Given the description of an element on the screen output the (x, y) to click on. 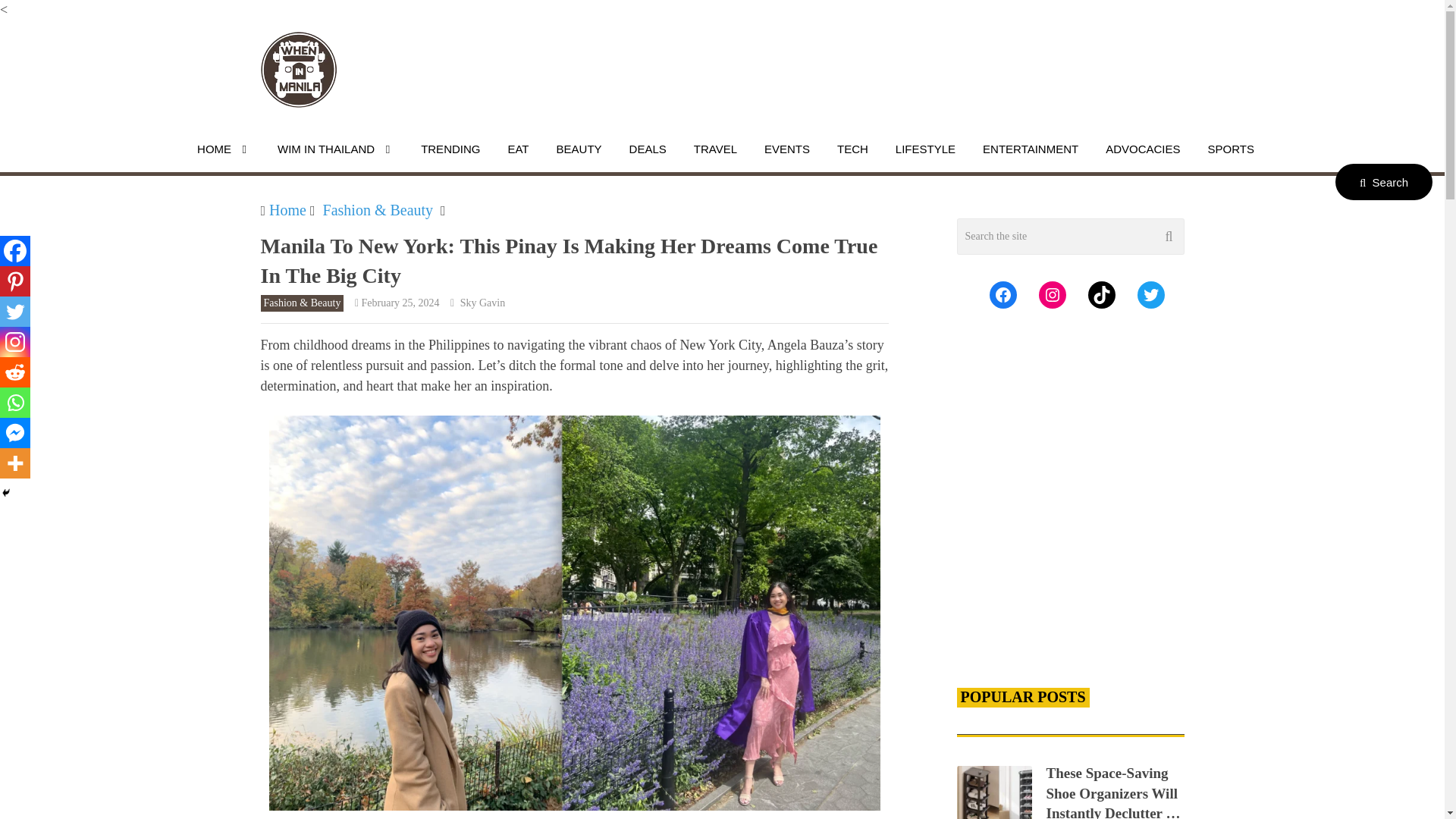
Pinterest (15, 281)
LIFESTYLE (924, 148)
  Search (1383, 181)
Instagram (15, 341)
HOME (224, 148)
TRAVEL (715, 148)
Reddit (15, 372)
ENTERTAINMENT (1030, 148)
More (15, 462)
BEAUTY (578, 148)
ADVOCACIES (1142, 148)
Whatsapp (15, 402)
DEALS (647, 148)
EVENTS (786, 148)
